Given the description of an element on the screen output the (x, y) to click on. 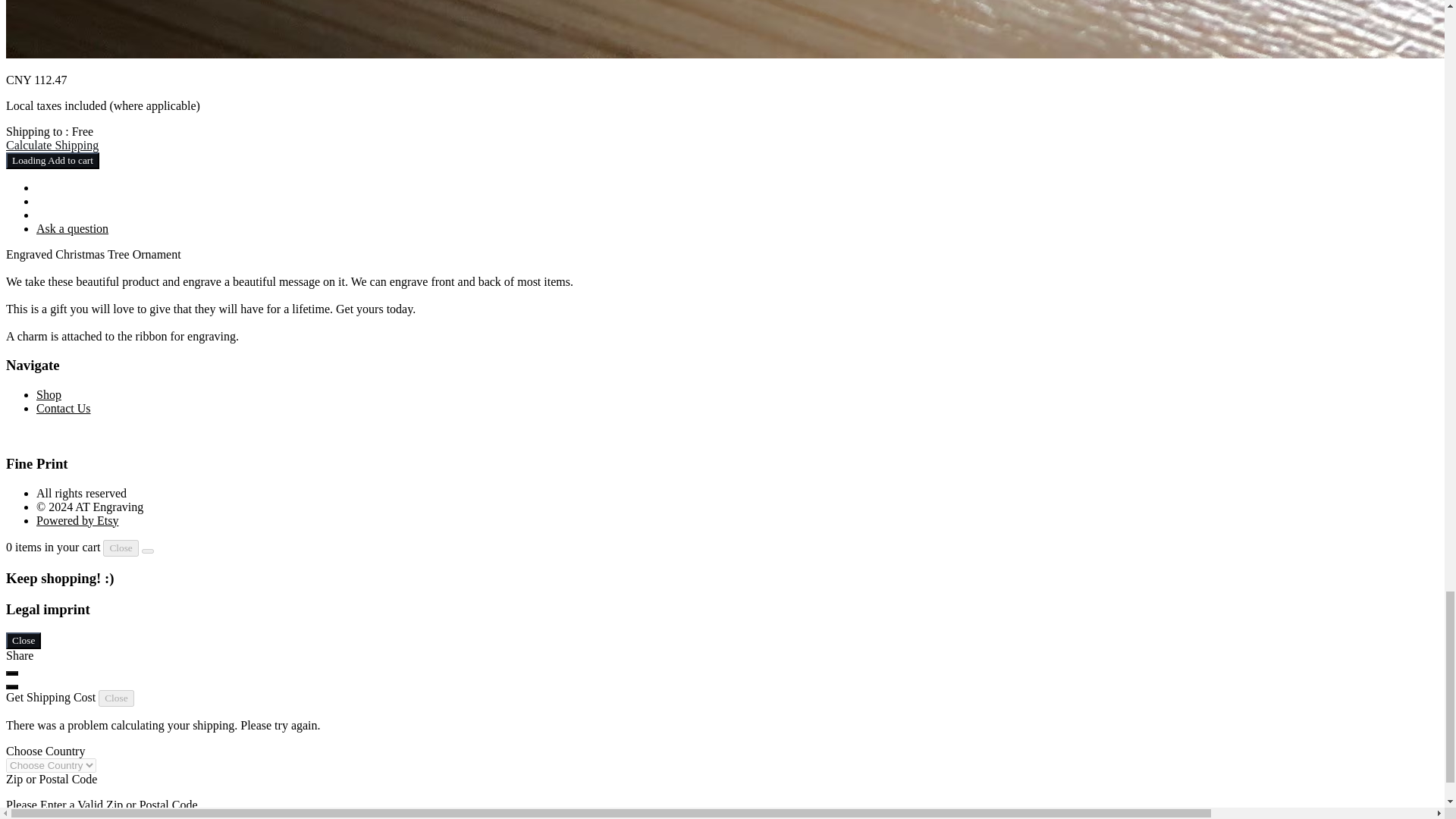
Close (22, 640)
Contact Us (63, 408)
Shop (48, 394)
Close (116, 698)
Loading Add to cart (52, 160)
Ask a question (71, 228)
Close (120, 547)
Calculate Shipping (52, 144)
Powered by Etsy (76, 520)
